Given the description of an element on the screen output the (x, y) to click on. 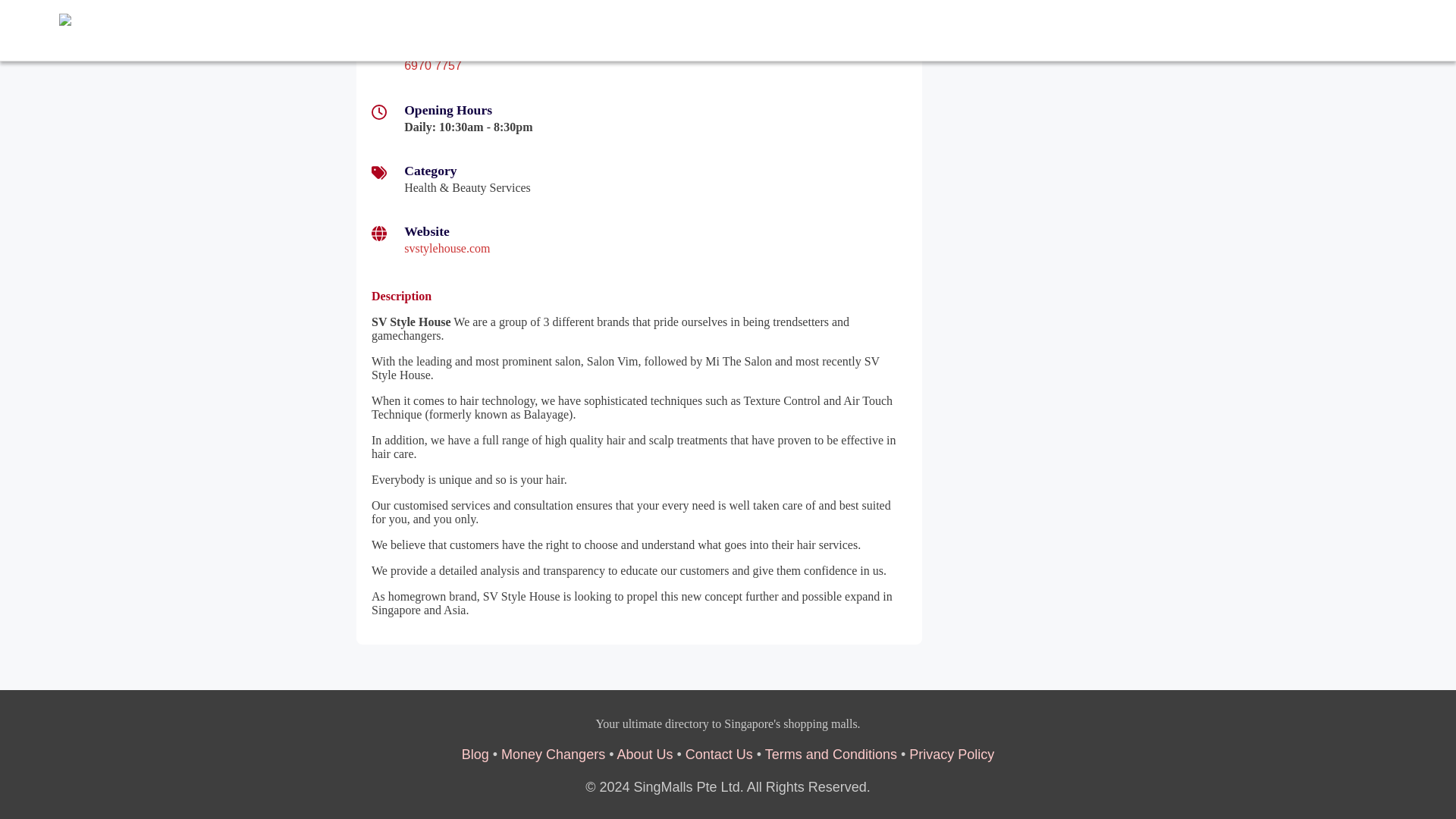
6970 7757 (432, 65)
About Us (643, 754)
Money Changers (552, 754)
Privacy Policy (951, 754)
Terms and Conditions (830, 754)
Contact Us (718, 754)
Blog (475, 754)
svstylehouse.com (446, 247)
